Given the description of an element on the screen output the (x, y) to click on. 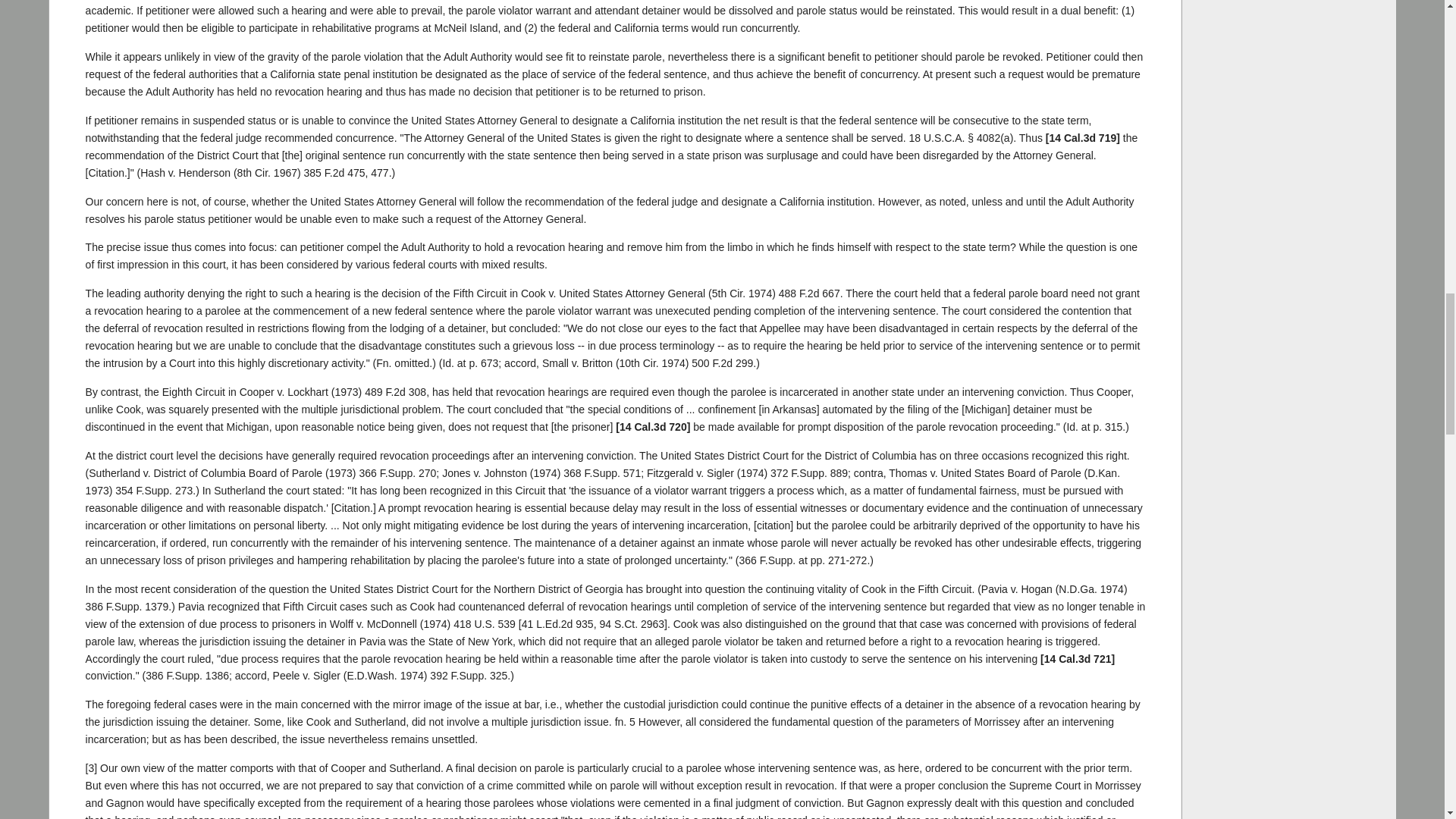
418 U.S. 539 (483, 623)
fn. 5 (624, 721)
489 F.2d 308 (395, 391)
385 F.2d 475 (334, 173)
488 F.2d 667 (809, 293)
500 F.2d 299 (721, 363)
